Given the description of an element on the screen output the (x, y) to click on. 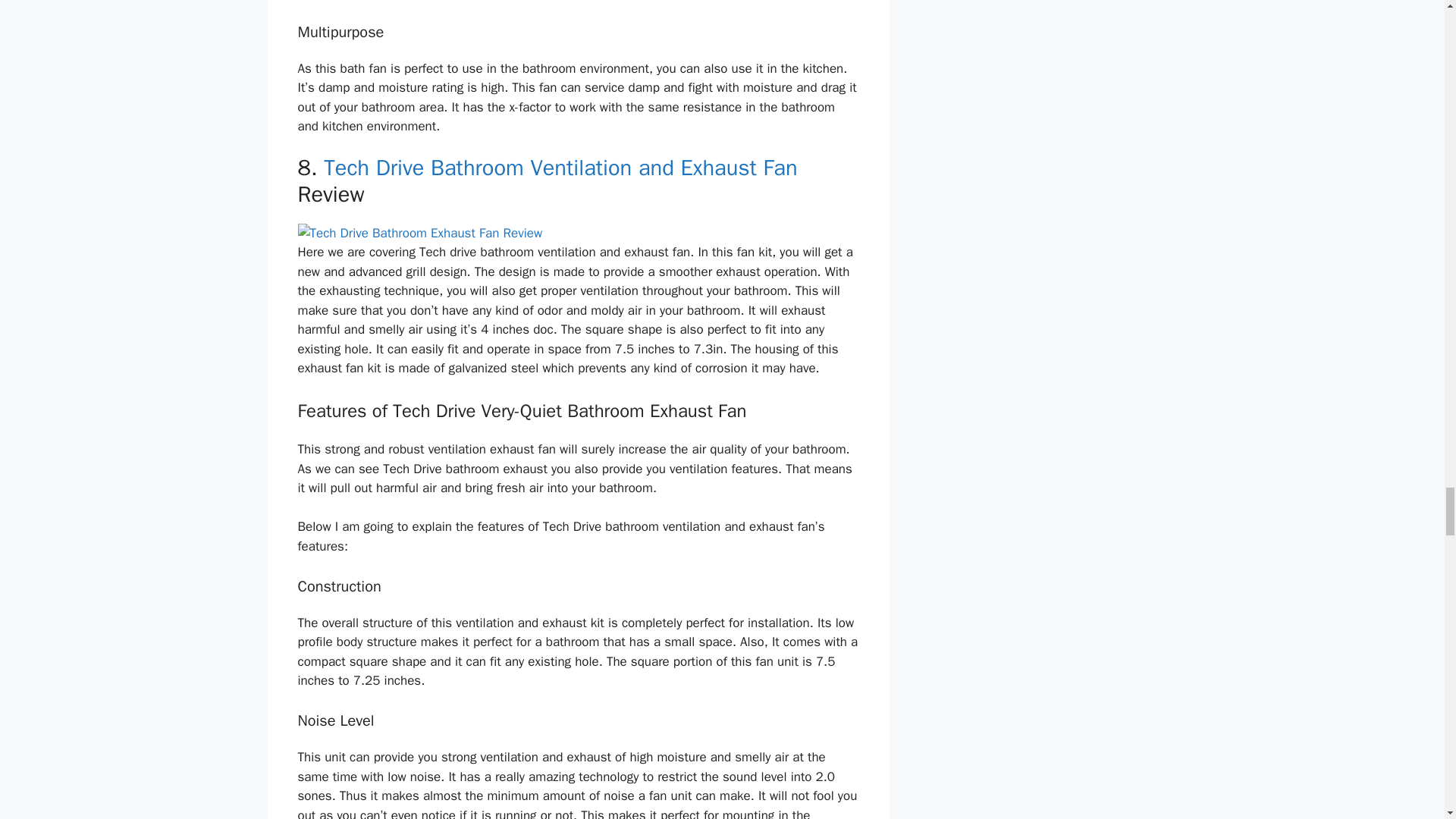
Tech Drive Bathroom Ventilation and Exhaust Fan (559, 167)
